Given the description of an element on the screen output the (x, y) to click on. 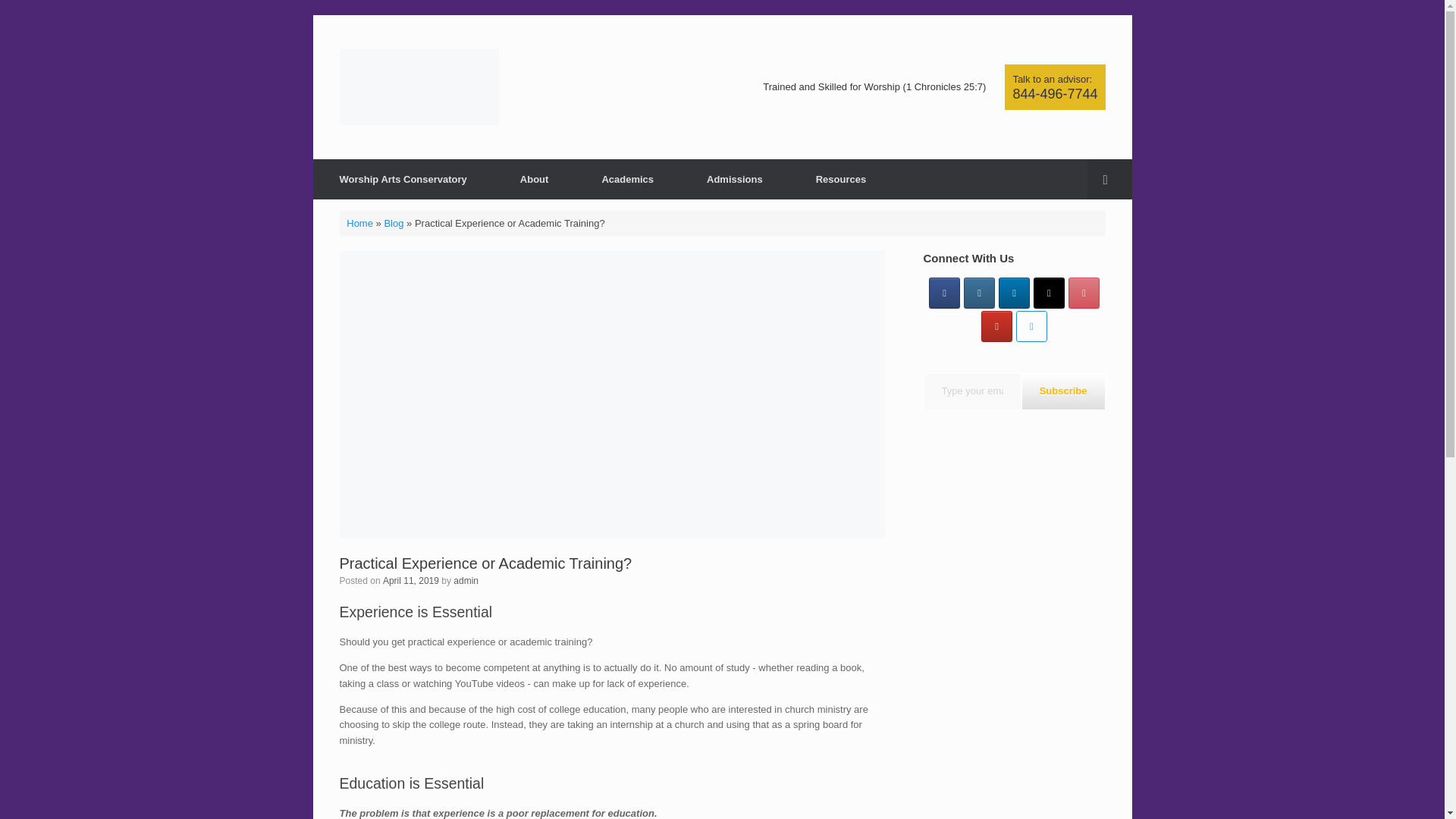
Pinterest (1083, 292)
View all posts by admin (465, 580)
Academics (627, 178)
April 11, 2019 (410, 580)
Please fill in this field. (972, 391)
9:02 am (410, 580)
Worship Arts Conservatory on Spotify (1031, 326)
admin (465, 580)
Admissions (734, 178)
About (534, 178)
Twitter (1048, 292)
Worship Arts Conservatory (419, 87)
LinkedIn (1013, 292)
844-496-7744 (1054, 93)
YouTube (996, 326)
